Given the description of an element on the screen output the (x, y) to click on. 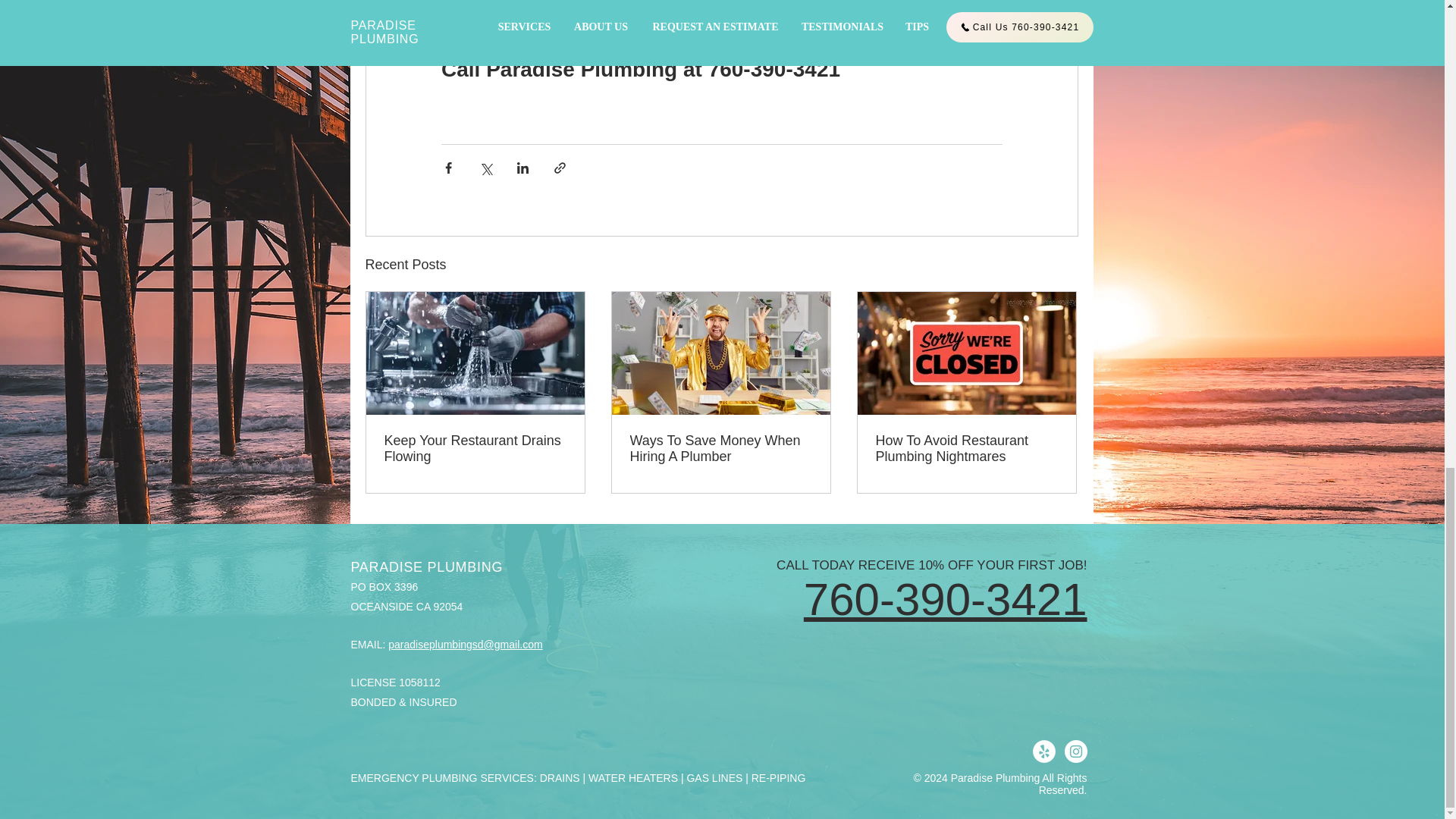
Keep Your Restaurant Drains Flowing (475, 449)
Ways To Save Money When Hiring A Plumber (719, 449)
Paradise Plumbing (720, 4)
How To Avoid Restaurant Plumbing Nightmares (966, 449)
760-390-3421 (945, 599)
